Given the description of an element on the screen output the (x, y) to click on. 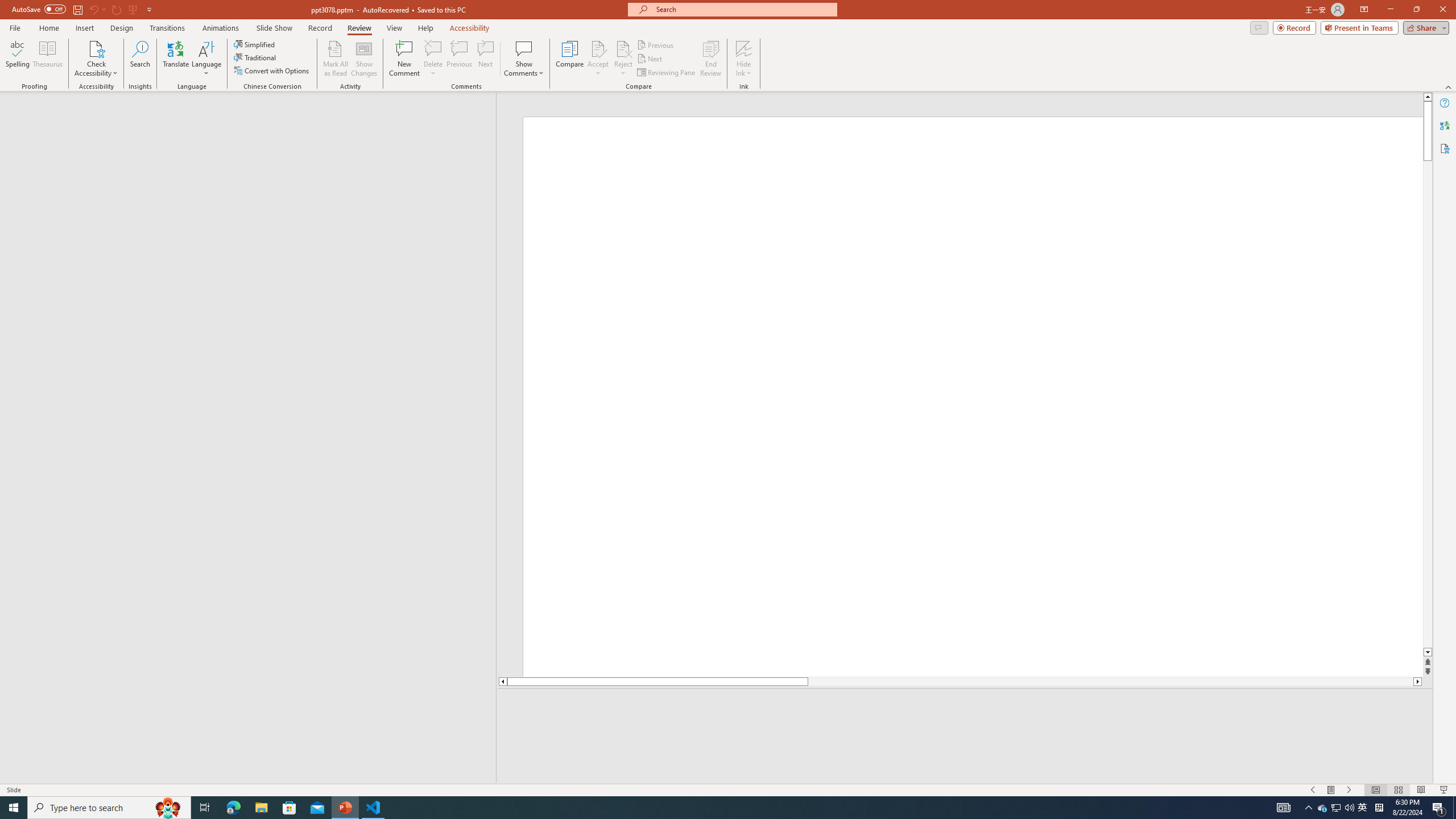
Reviewing Pane (666, 72)
Spelling... (17, 58)
End Review (710, 58)
Menu On (1331, 790)
